Given the description of an element on the screen output the (x, y) to click on. 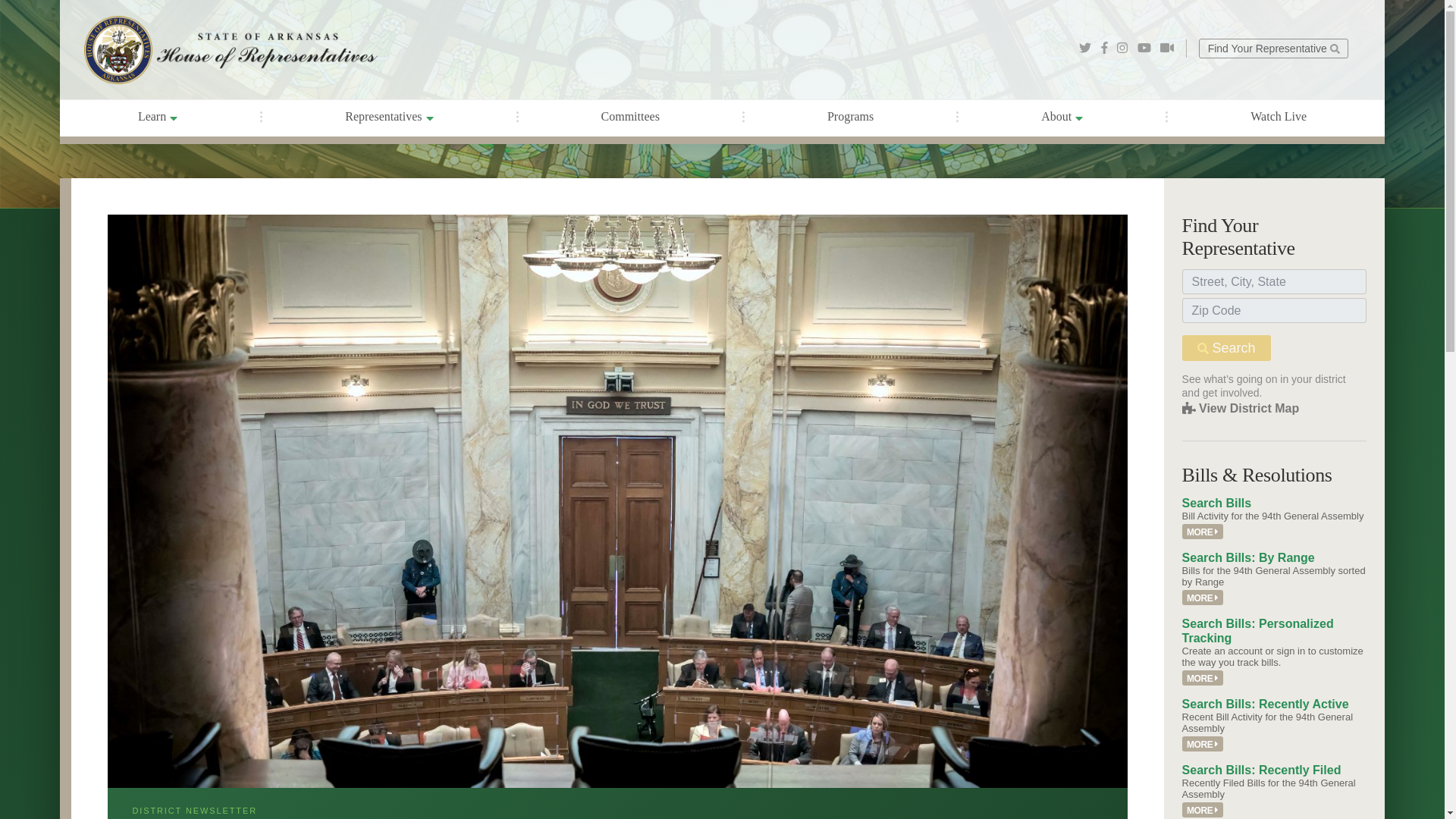
Representatives (388, 118)
MORE (1203, 744)
Search (1226, 347)
Permalink (1203, 810)
Permalink (1203, 531)
Permalink (1203, 744)
MORE (1203, 597)
Learn (157, 118)
Watch Live (1277, 117)
Programs (850, 117)
Permalink (1203, 678)
MORE (1203, 810)
View District Map (1241, 408)
MORE (1203, 678)
MORE (1203, 531)
